Given the description of an element on the screen output the (x, y) to click on. 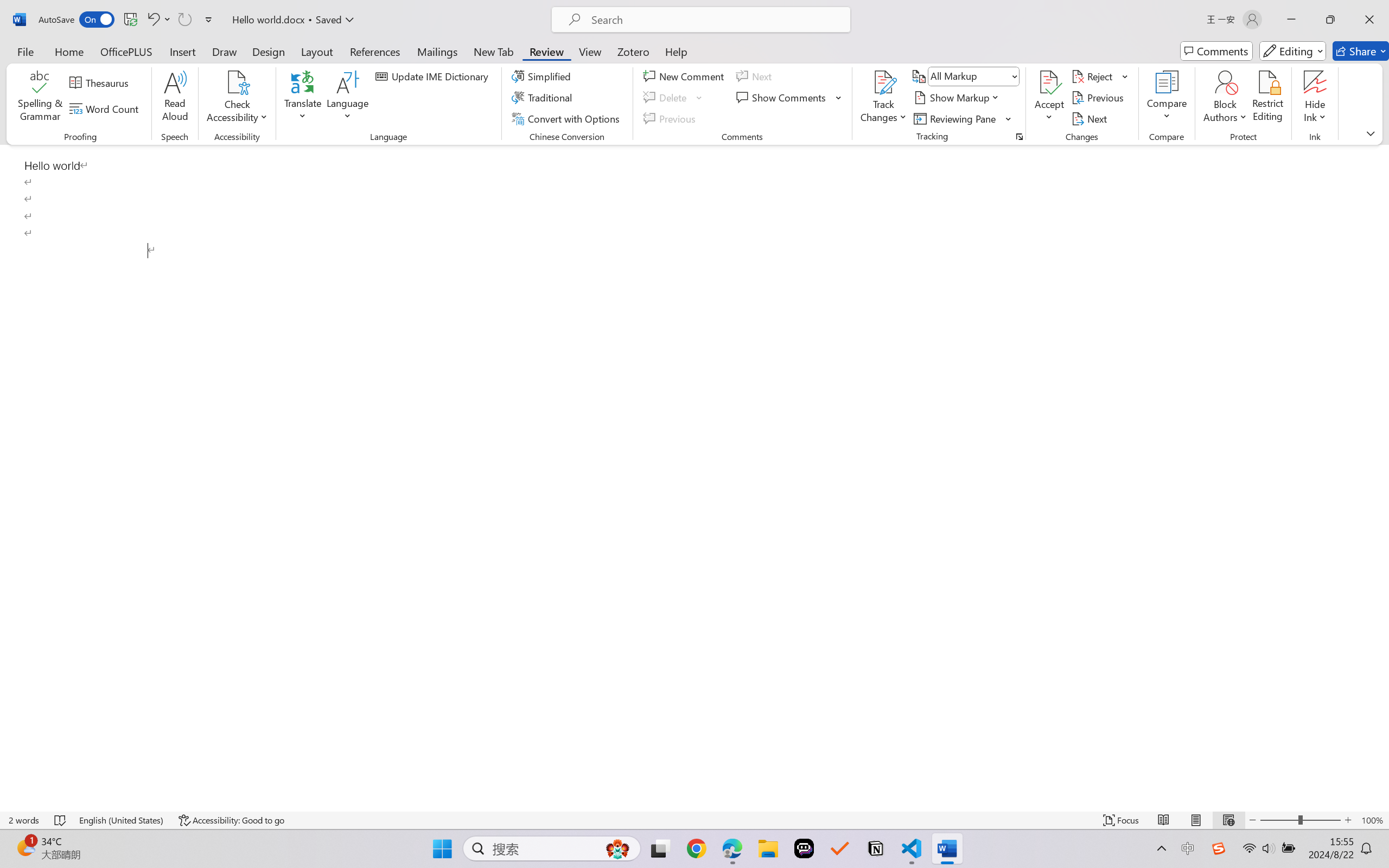
Auto-detect (1272, 136)
Swap "from" and "to" languages. (1293, 231)
Clear Recording (224, 62)
